Given the description of an element on the screen output the (x, y) to click on. 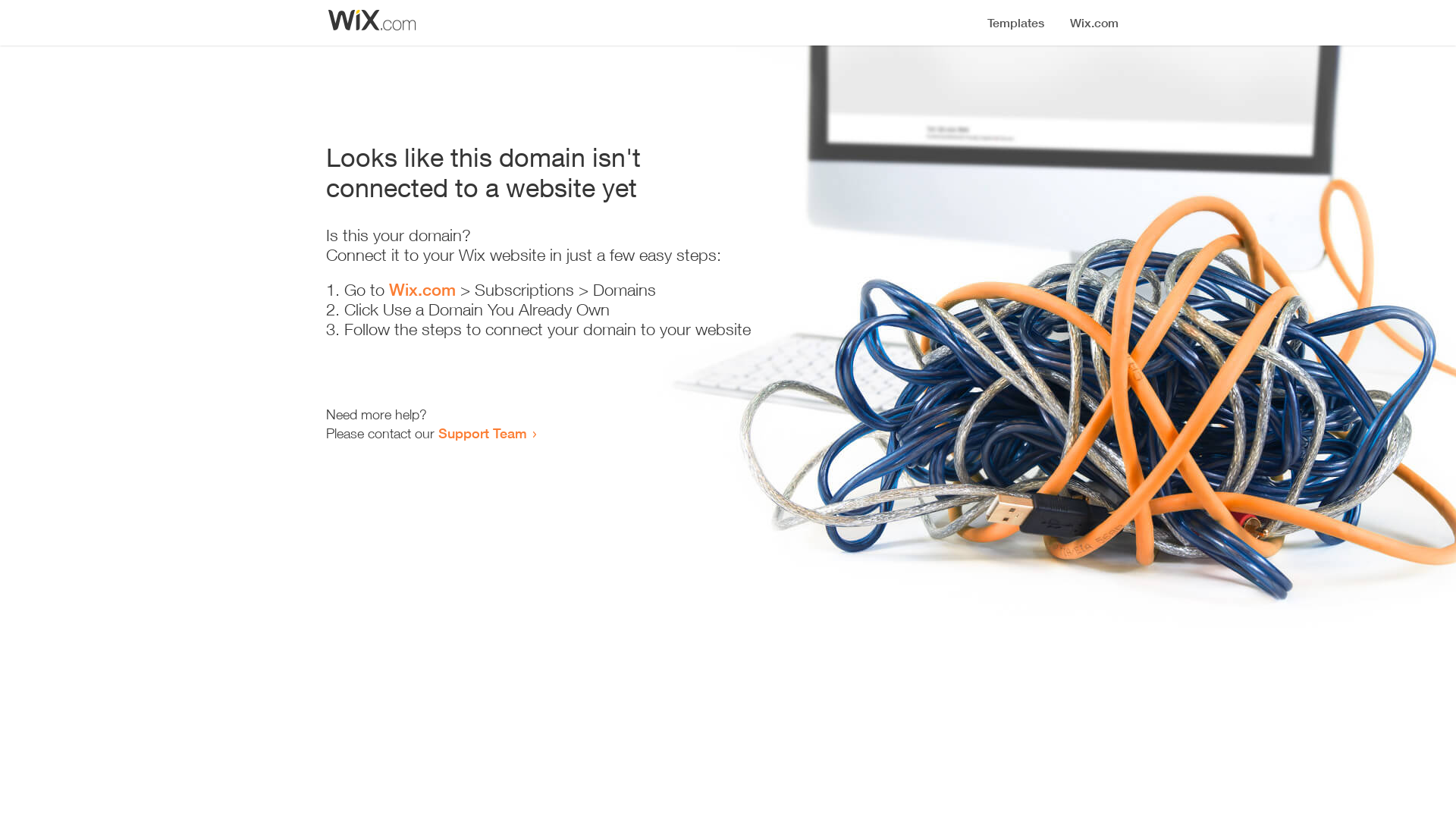
Support Team Element type: text (482, 432)
Wix.com Element type: text (422, 289)
